Given the description of an element on the screen output the (x, y) to click on. 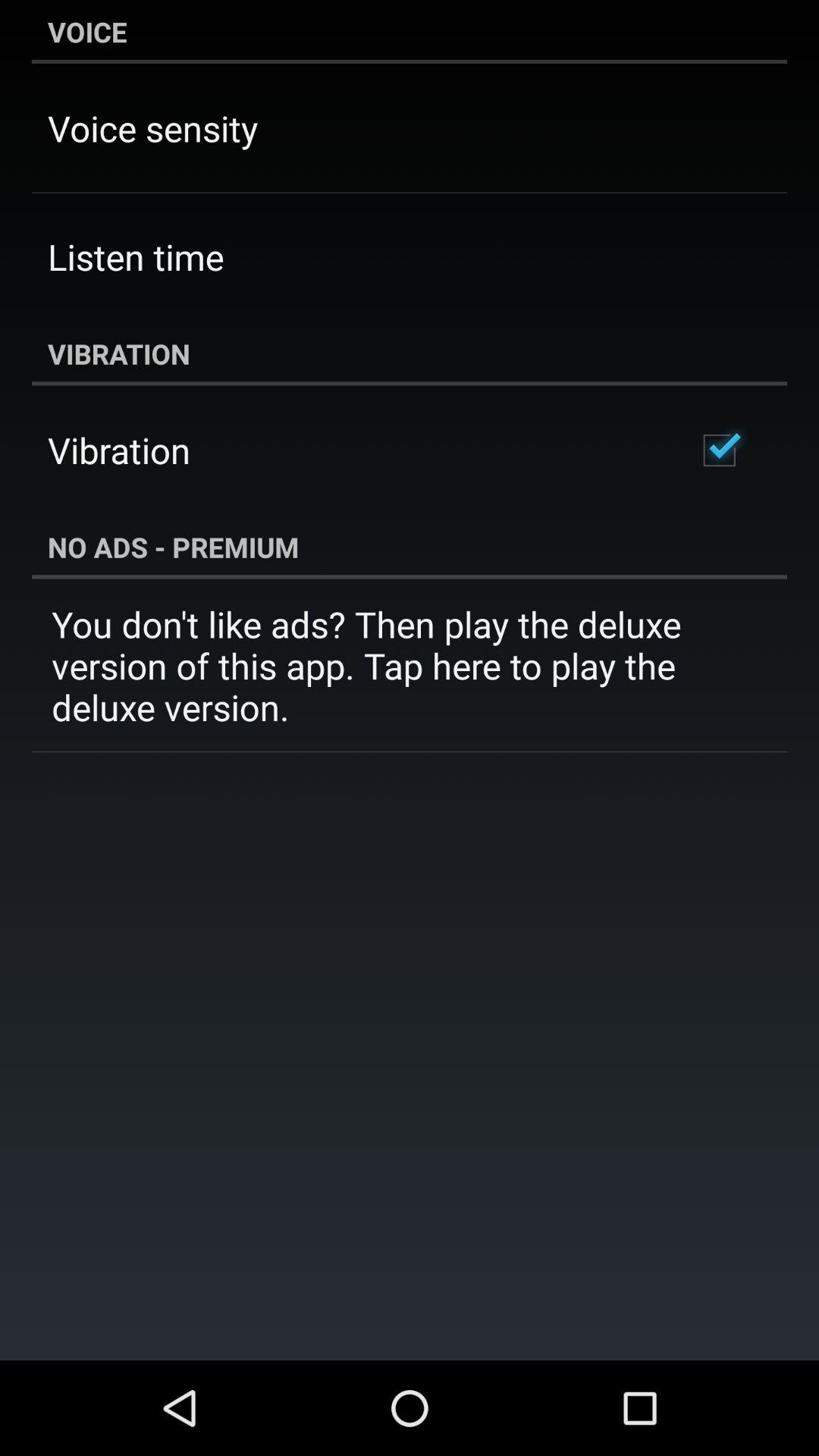
scroll until the listen time app (135, 256)
